Given the description of an element on the screen output the (x, y) to click on. 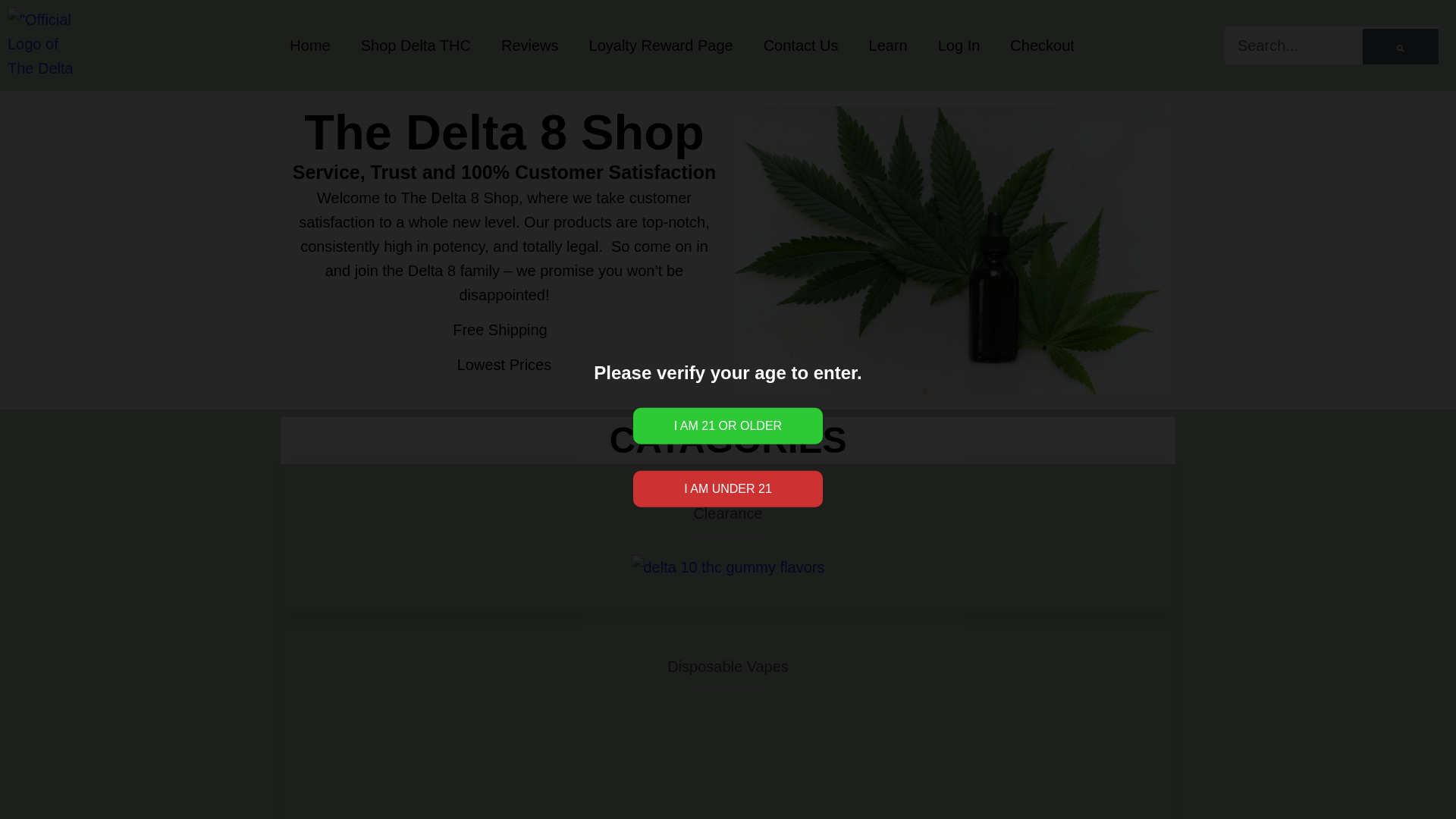
Clearance (727, 513)
Reviews (529, 45)
Log In (959, 45)
Checkout (1041, 45)
I am 21 or older (727, 425)
I am under 21 (727, 488)
Contact Us (800, 45)
Learn (888, 45)
Shop Delta THC (416, 45)
Disposable Vapes (727, 666)
